Given the description of an element on the screen output the (x, y) to click on. 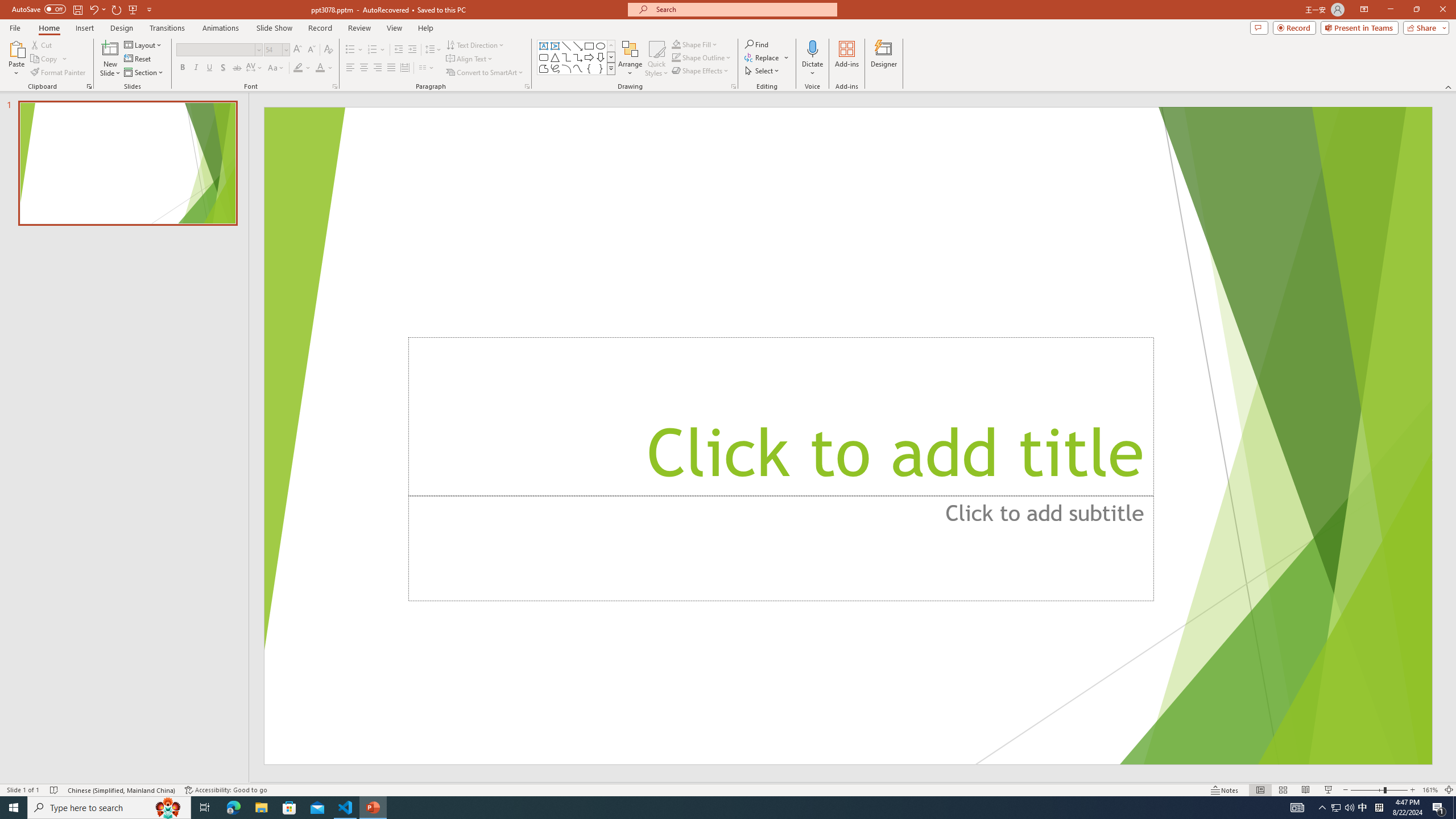
Comments (1259, 27)
Row up (611, 45)
Customize Quick Access Toolbar (149, 9)
Font Size (273, 49)
Ribbon Display Options (1364, 9)
Slide Sorter (1282, 790)
Close (1442, 9)
Format Painter (58, 72)
Replace... (767, 56)
Zoom to Fit  (1449, 790)
Layout (143, 44)
Line (566, 45)
Connector: Elbow (566, 57)
